Given the description of an element on the screen output the (x, y) to click on. 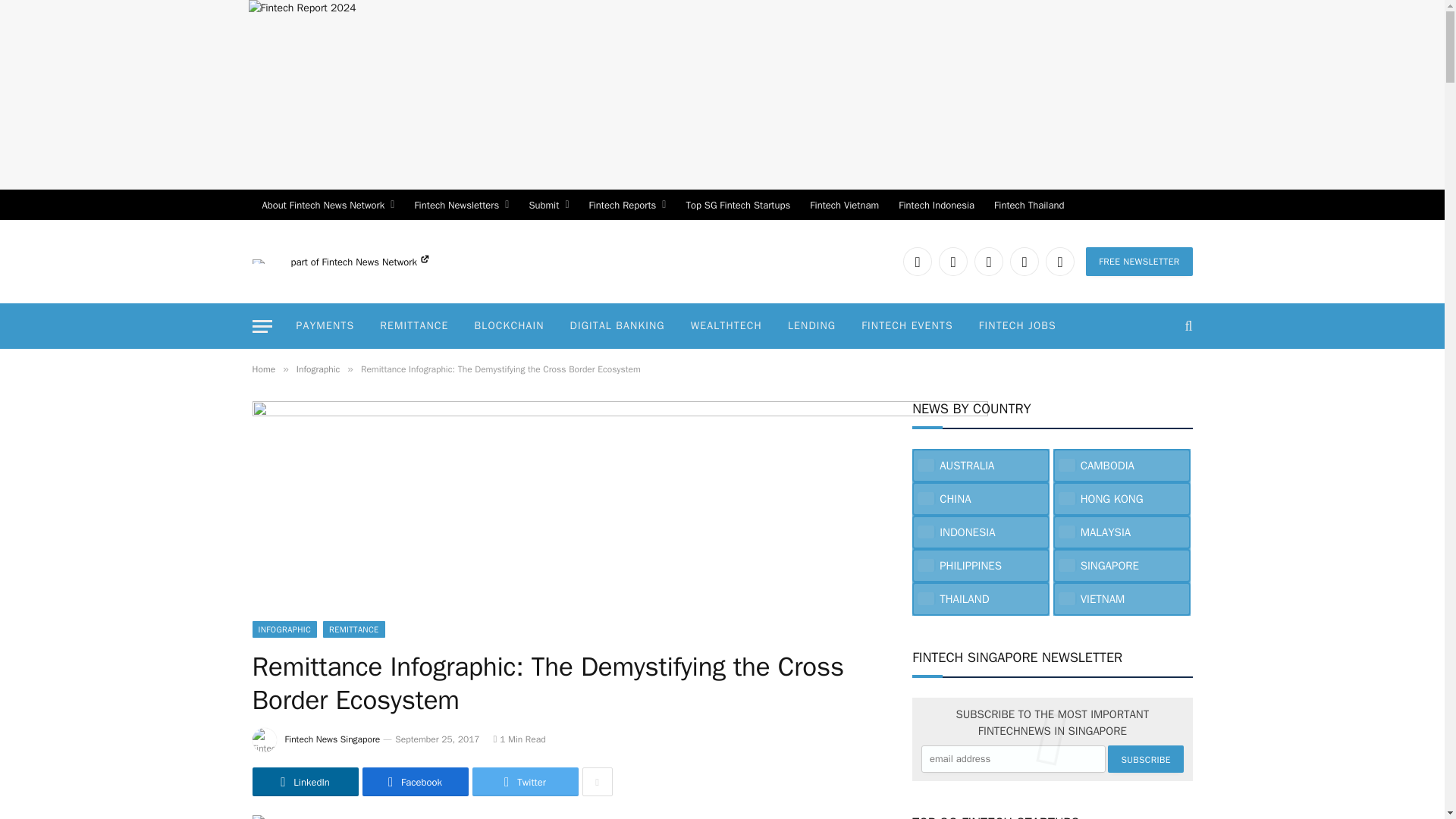
About Fintech News Network (327, 204)
Posts by Fintech News Singapore (332, 739)
Submit (548, 204)
Share on LinkedIn (304, 781)
Subscribe (1145, 759)
Show More Social Sharing (597, 781)
Share on Facebook (415, 781)
Fintech Newsletters (461, 204)
